Given the description of an element on the screen output the (x, y) to click on. 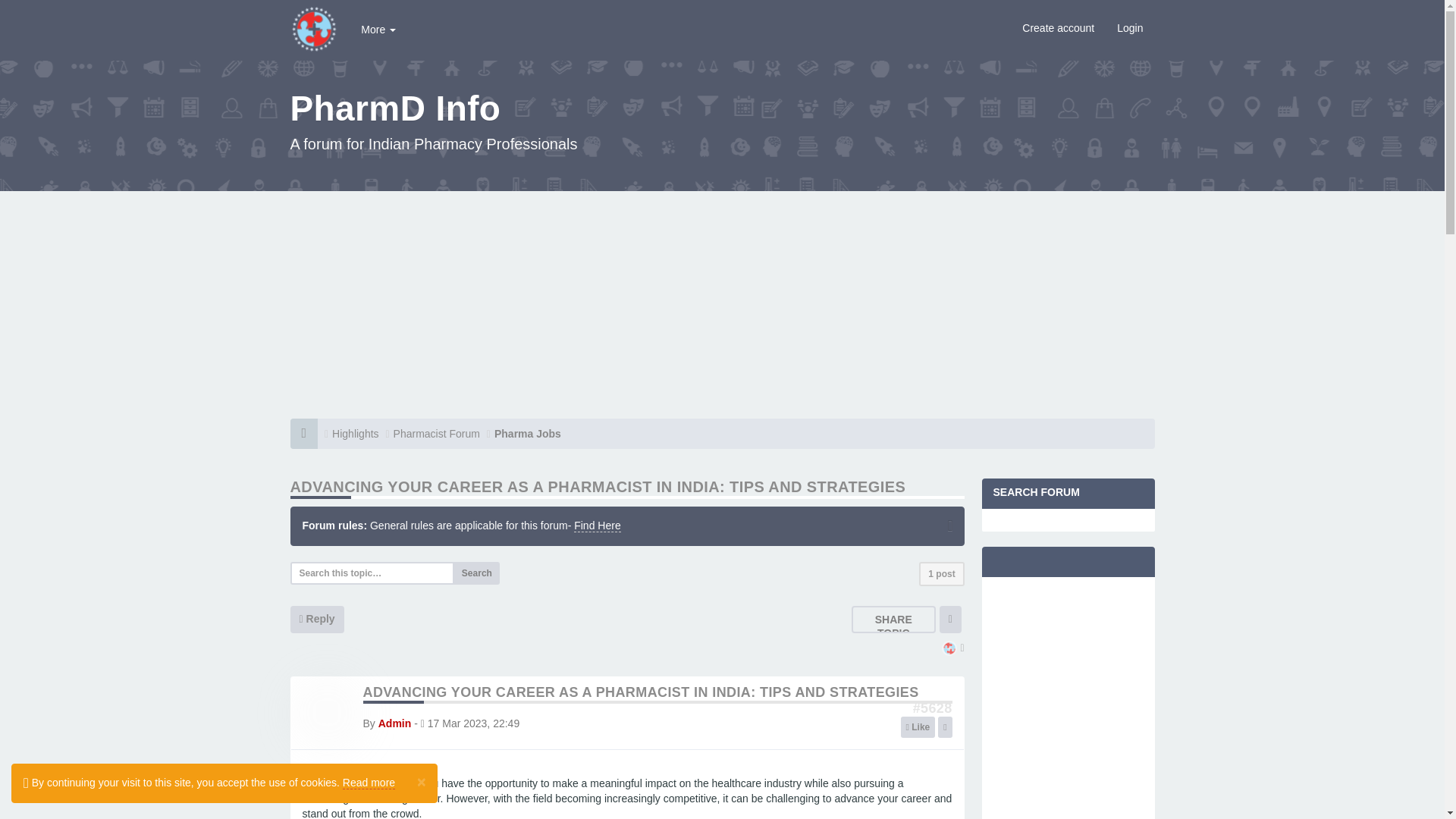
I Dislike This (944, 726)
More  (378, 29)
Login (1129, 27)
Admin (949, 649)
Post (932, 708)
Create account (1057, 27)
 Reply (316, 619)
1 post (940, 573)
SHARE TOPIC (893, 626)
Pharma Jobs (527, 433)
Admin (395, 723)
Advertisement (1067, 703)
Print view (949, 619)
